Given the description of an element on the screen output the (x, y) to click on. 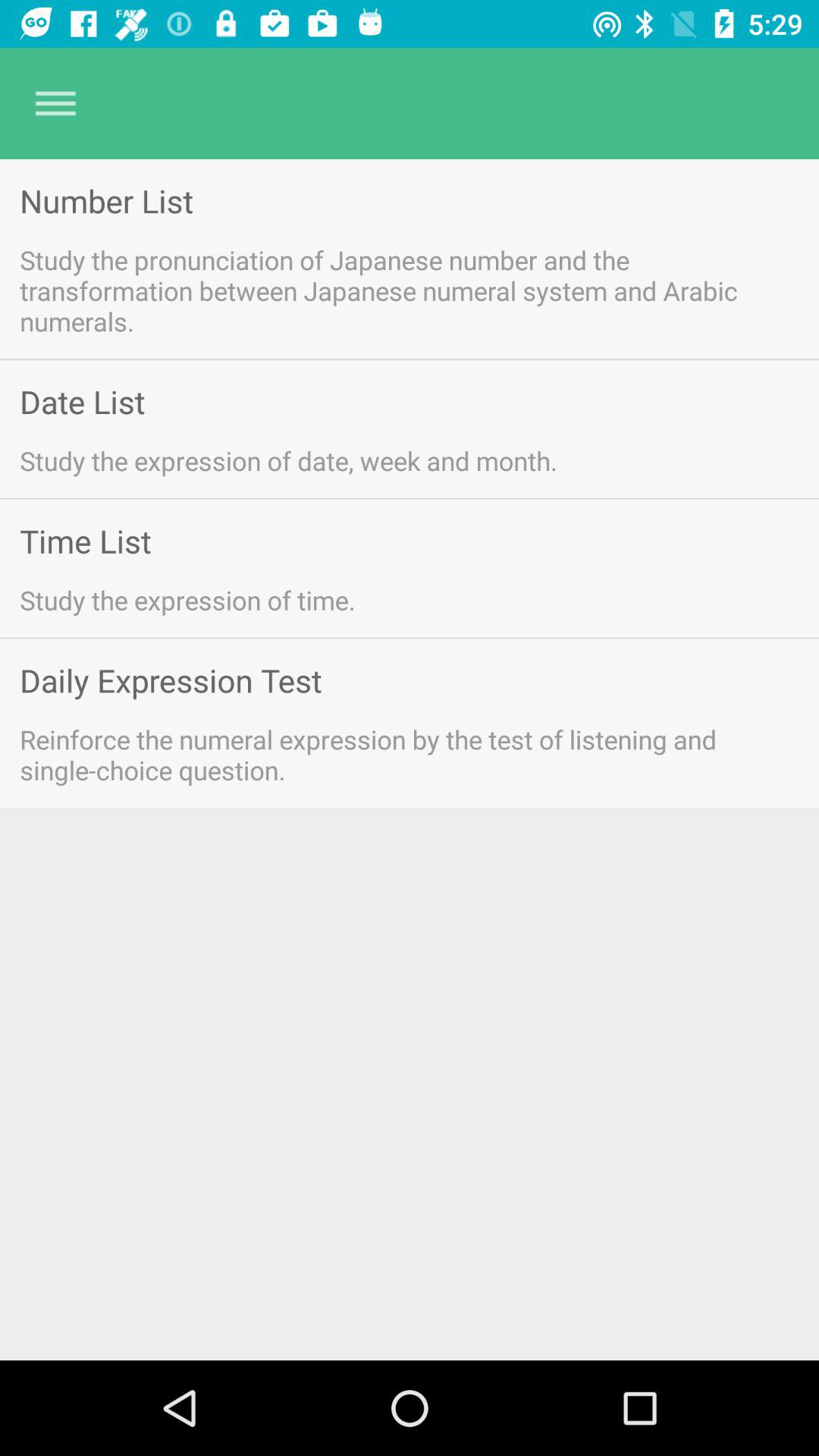
click number list app (106, 200)
